Given the description of an element on the screen output the (x, y) to click on. 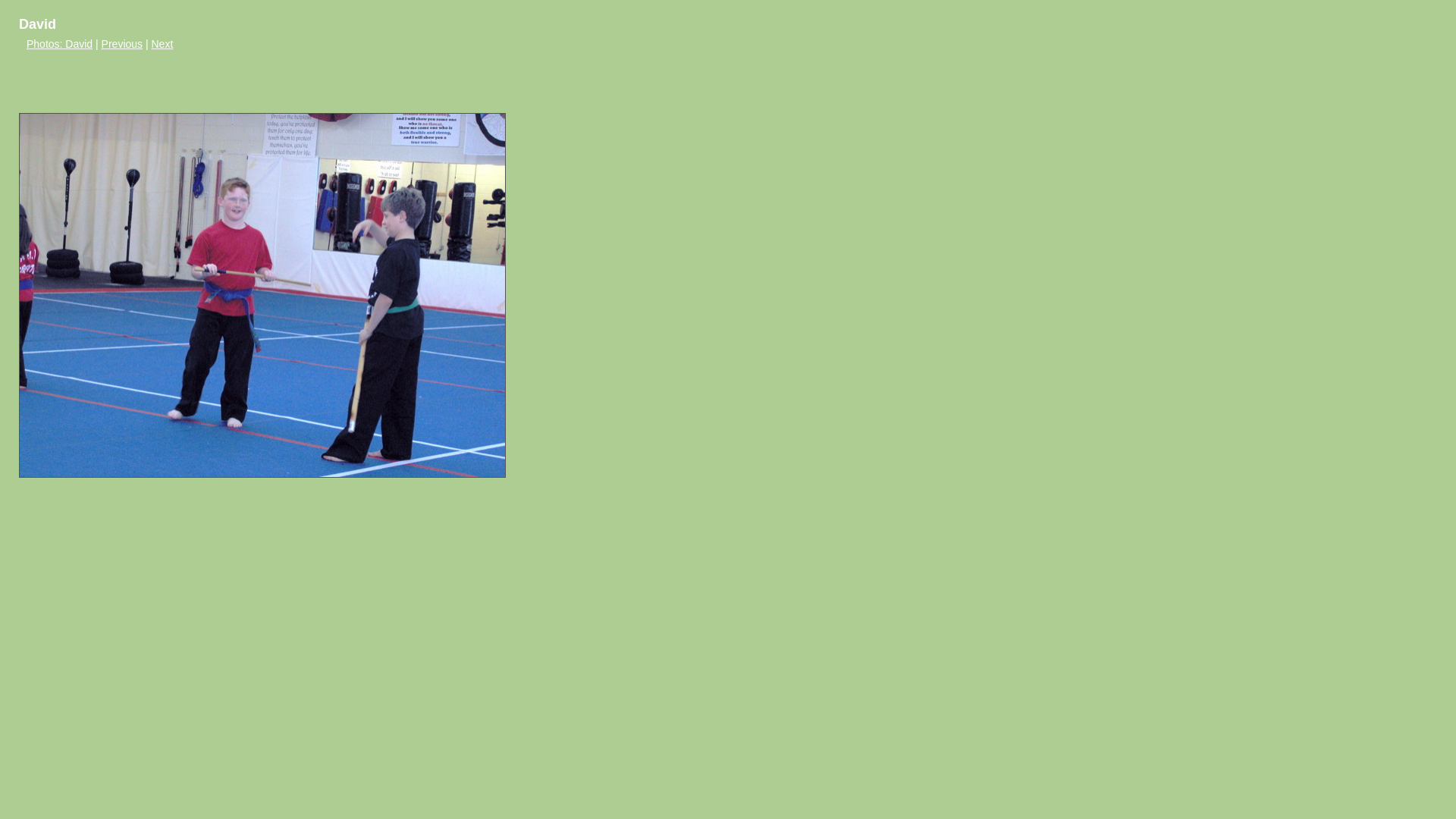
Photos: David Element type: text (59, 43)
Previous Element type: text (121, 43)
Next Element type: text (161, 43)
